Given the description of an element on the screen output the (x, y) to click on. 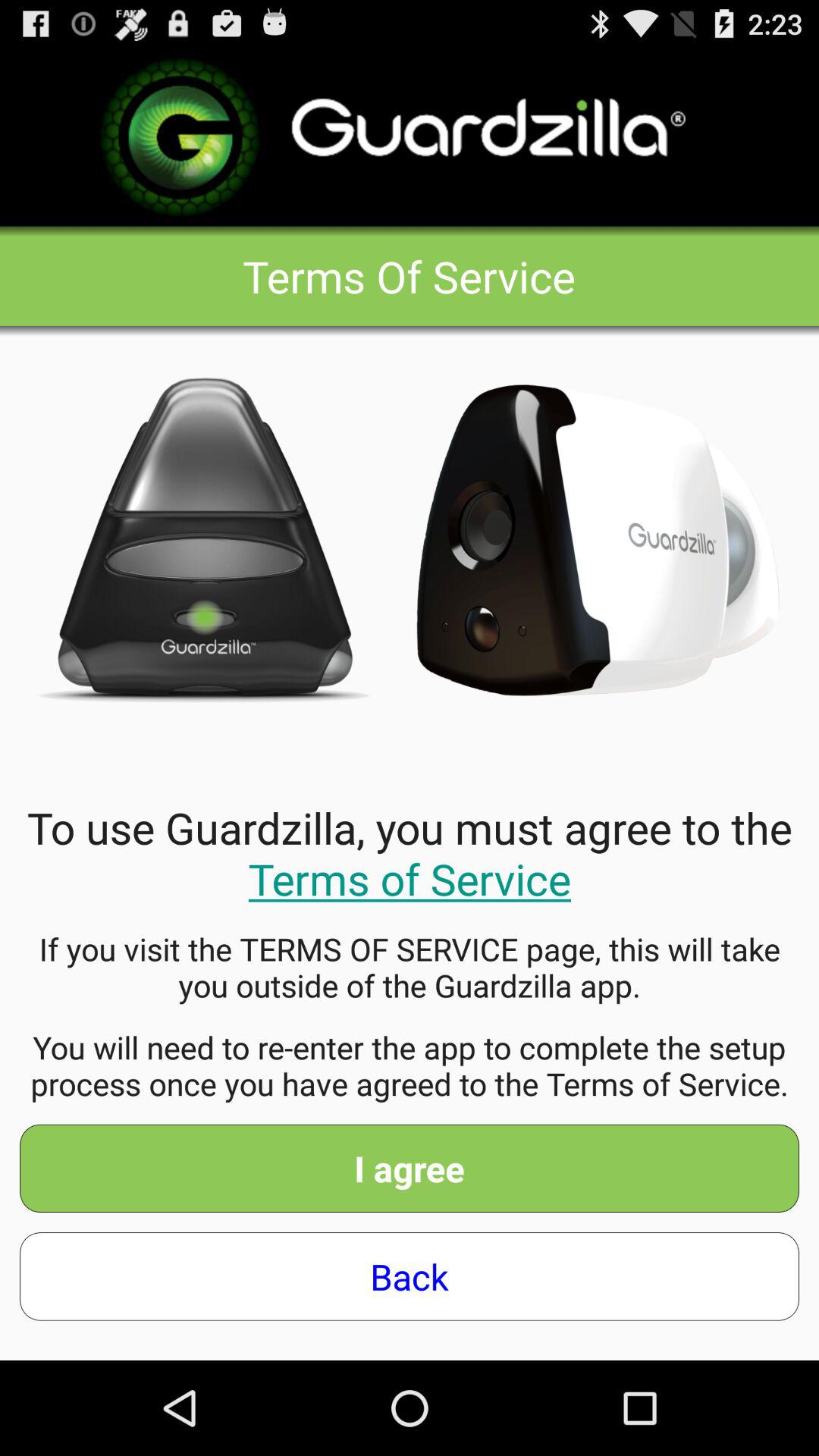
flip to the i agree (409, 1168)
